Given the description of an element on the screen output the (x, y) to click on. 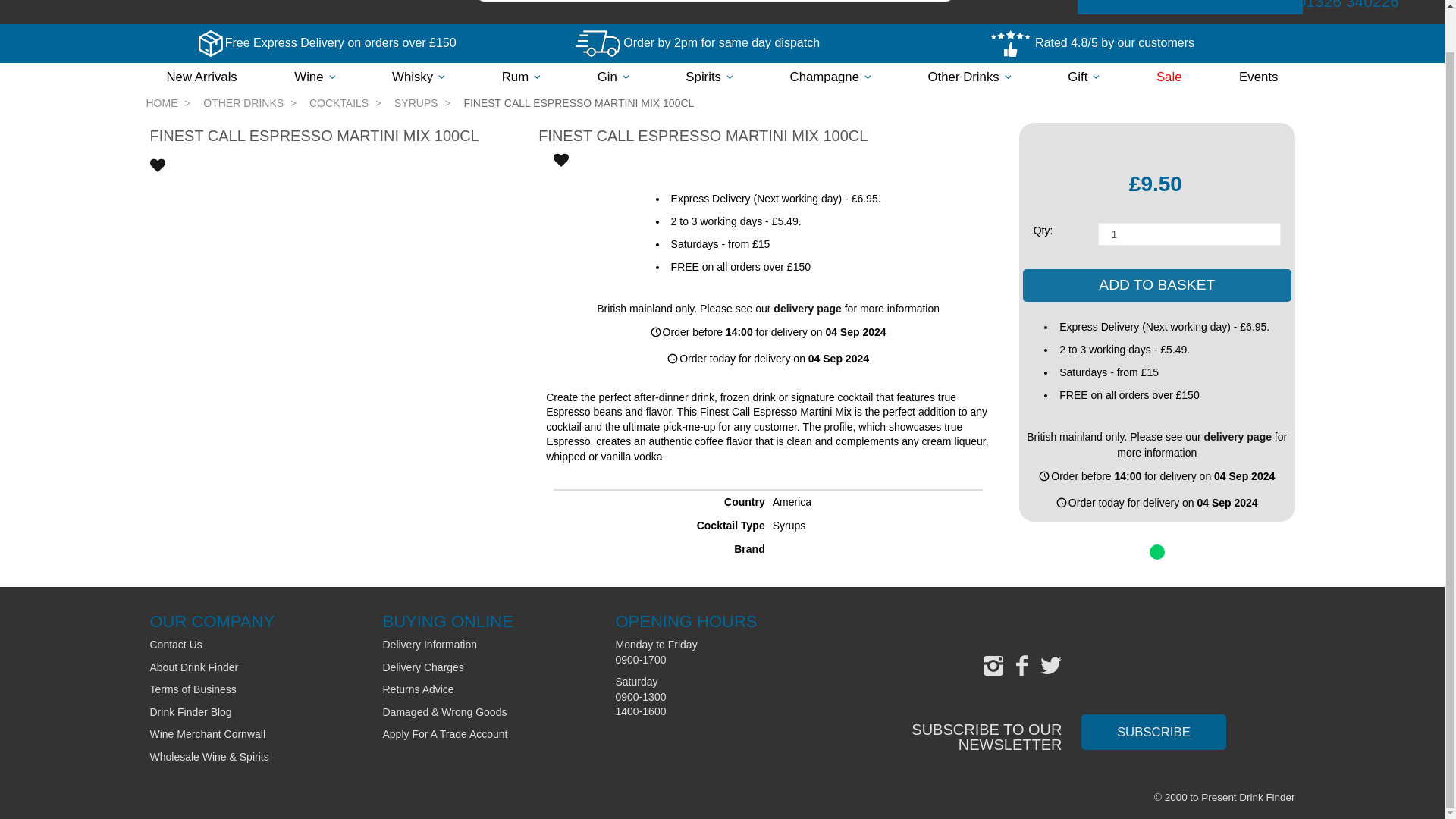
RUM (520, 77)
Events (1257, 77)
Sale (1168, 77)
Order by 2pm for same day dispatch (719, 42)
GIFT (1083, 77)
Wine (314, 77)
SALE (1168, 77)
Rum (520, 77)
NEW ARRIVALS (200, 77)
Subscribe (1154, 732)
